Given the description of an element on the screen output the (x, y) to click on. 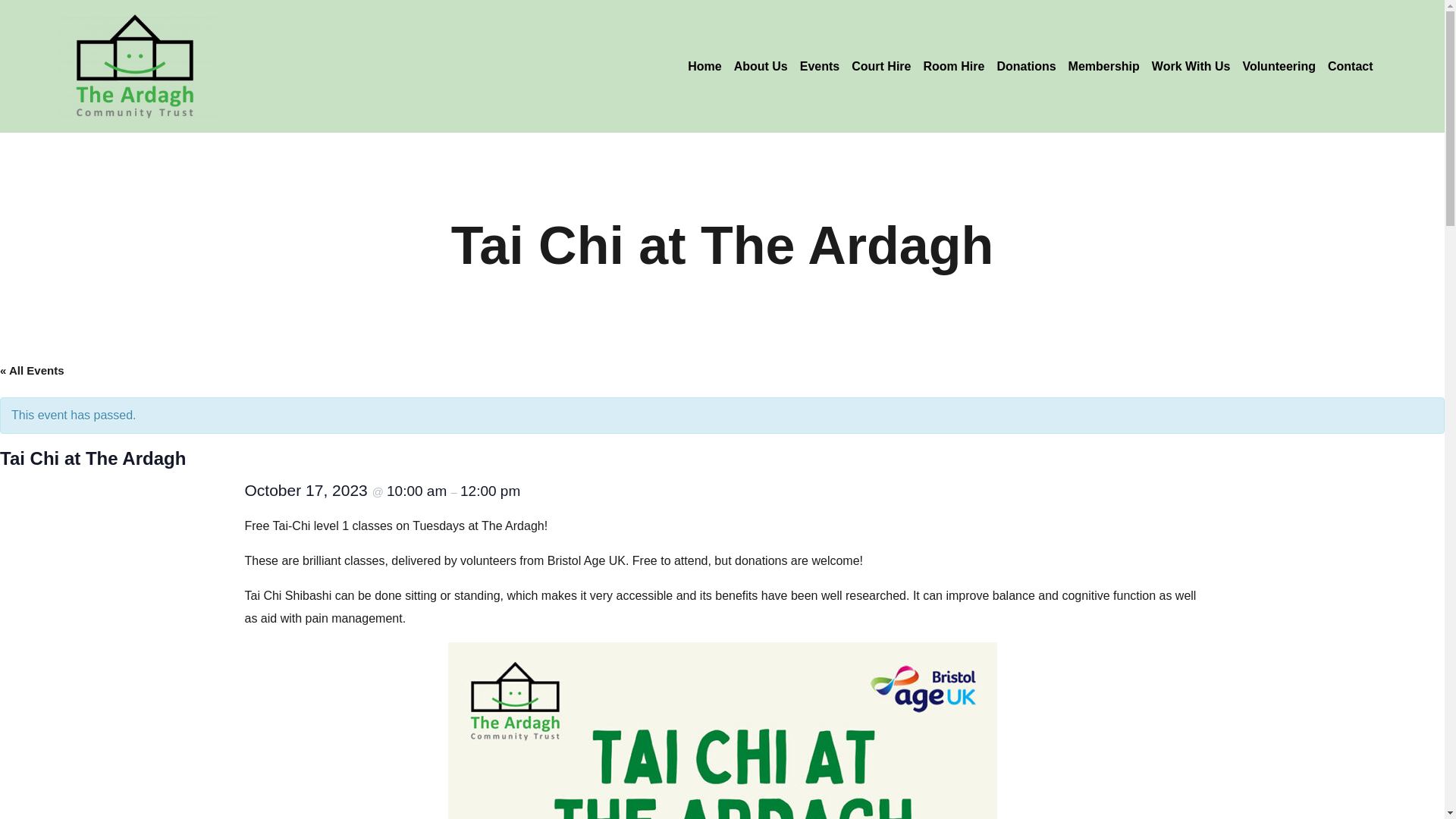
Events (819, 65)
About Us (760, 65)
Court Hire (881, 65)
Work With Us (1190, 65)
Volunteering (1279, 65)
Membership (1103, 65)
Home (703, 65)
Room Hire (953, 65)
Donations (1025, 65)
Contact (1350, 65)
